Given the description of an element on the screen output the (x, y) to click on. 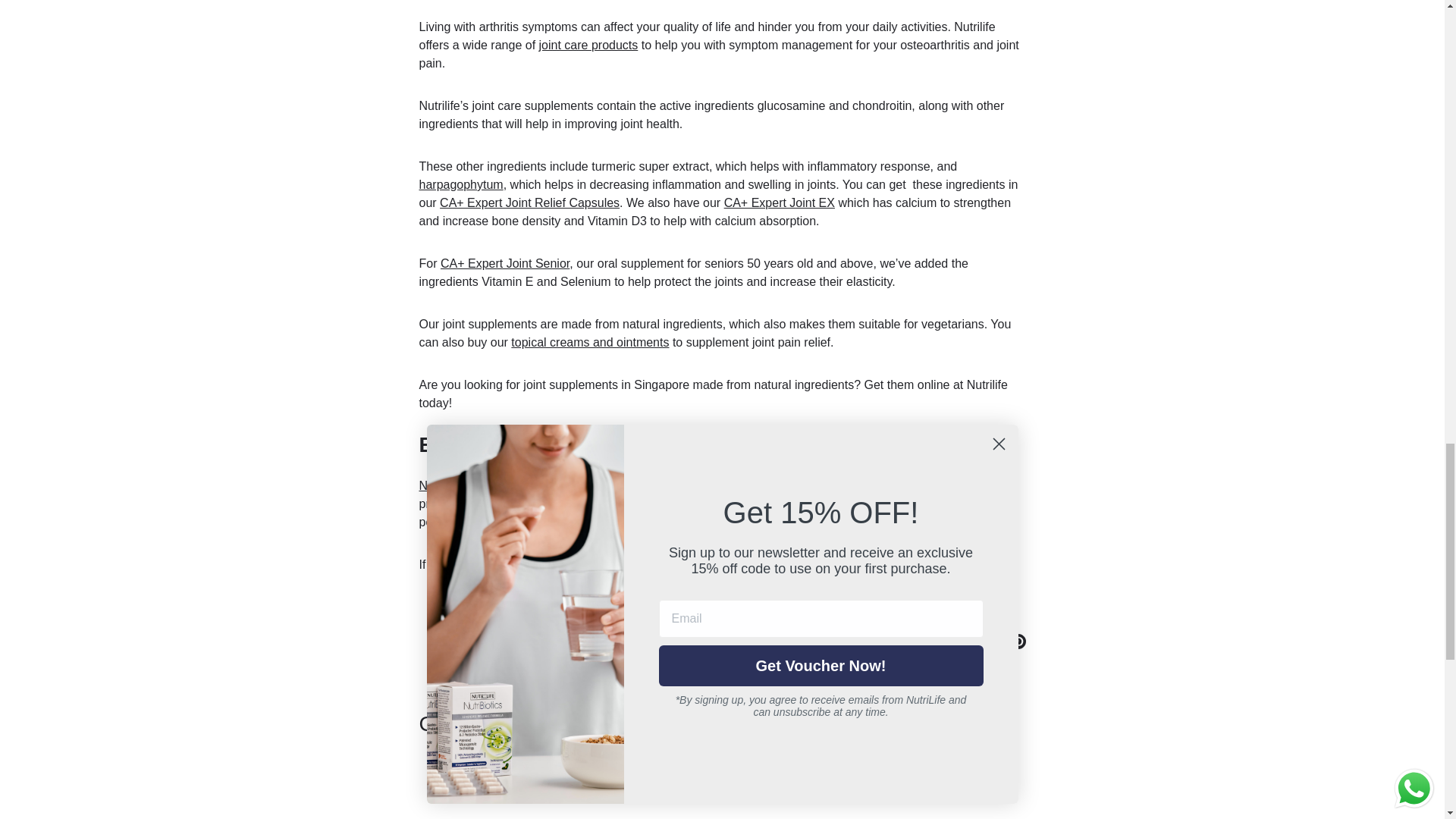
joint care products (588, 44)
harpagophytum (460, 184)
